Given the description of an element on the screen output the (x, y) to click on. 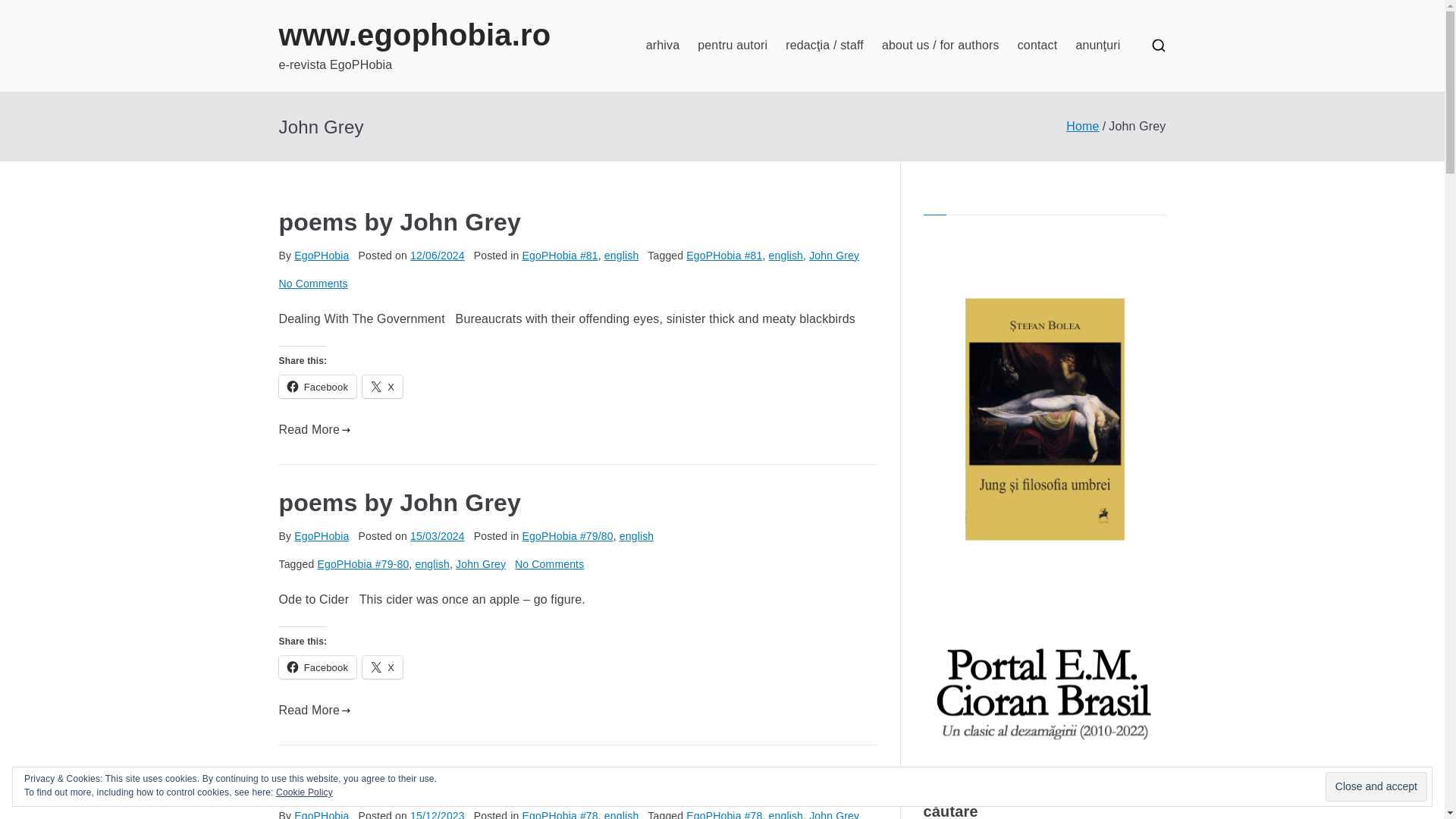
John Grey (834, 255)
english (313, 283)
poems by John Grey (785, 255)
EgoPHobia (400, 502)
contact (321, 535)
arhiva (1037, 45)
Facebook (662, 45)
www.egophobia.ro (317, 386)
pentru autori (415, 34)
